Given the description of an element on the screen output the (x, y) to click on. 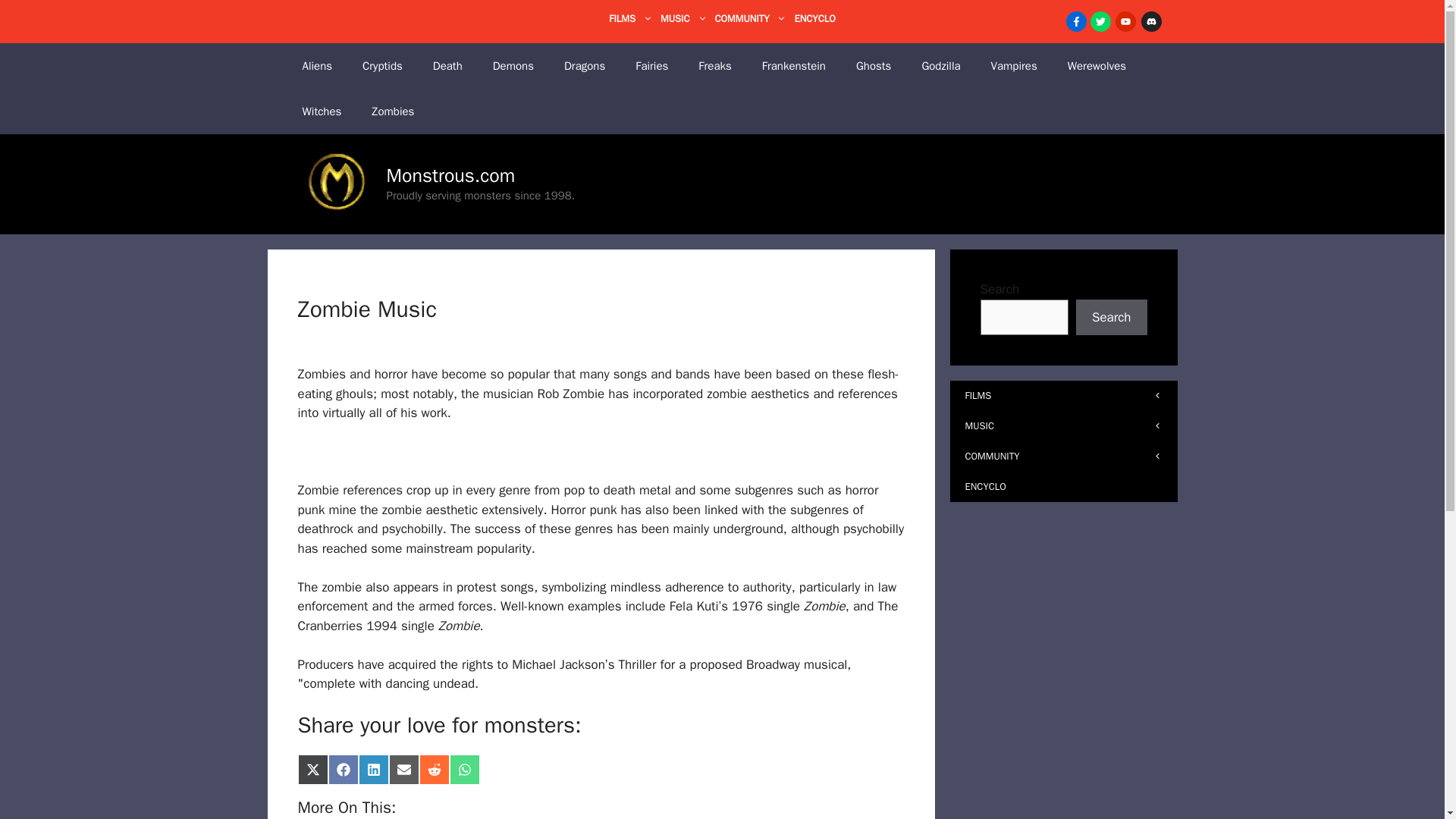
Frankenstein (793, 64)
Monstrous.com (451, 175)
Witches (321, 110)
Godzilla (940, 64)
Aliens (316, 64)
Demons (512, 64)
Cryptids (382, 64)
Freaks (713, 64)
FILMS (634, 18)
Share on Facebook (342, 769)
Death (447, 64)
Dragons (584, 64)
Share on LinkedIn (373, 769)
Zombies (392, 110)
Werewolves (1096, 64)
